Given the description of an element on the screen output the (x, y) to click on. 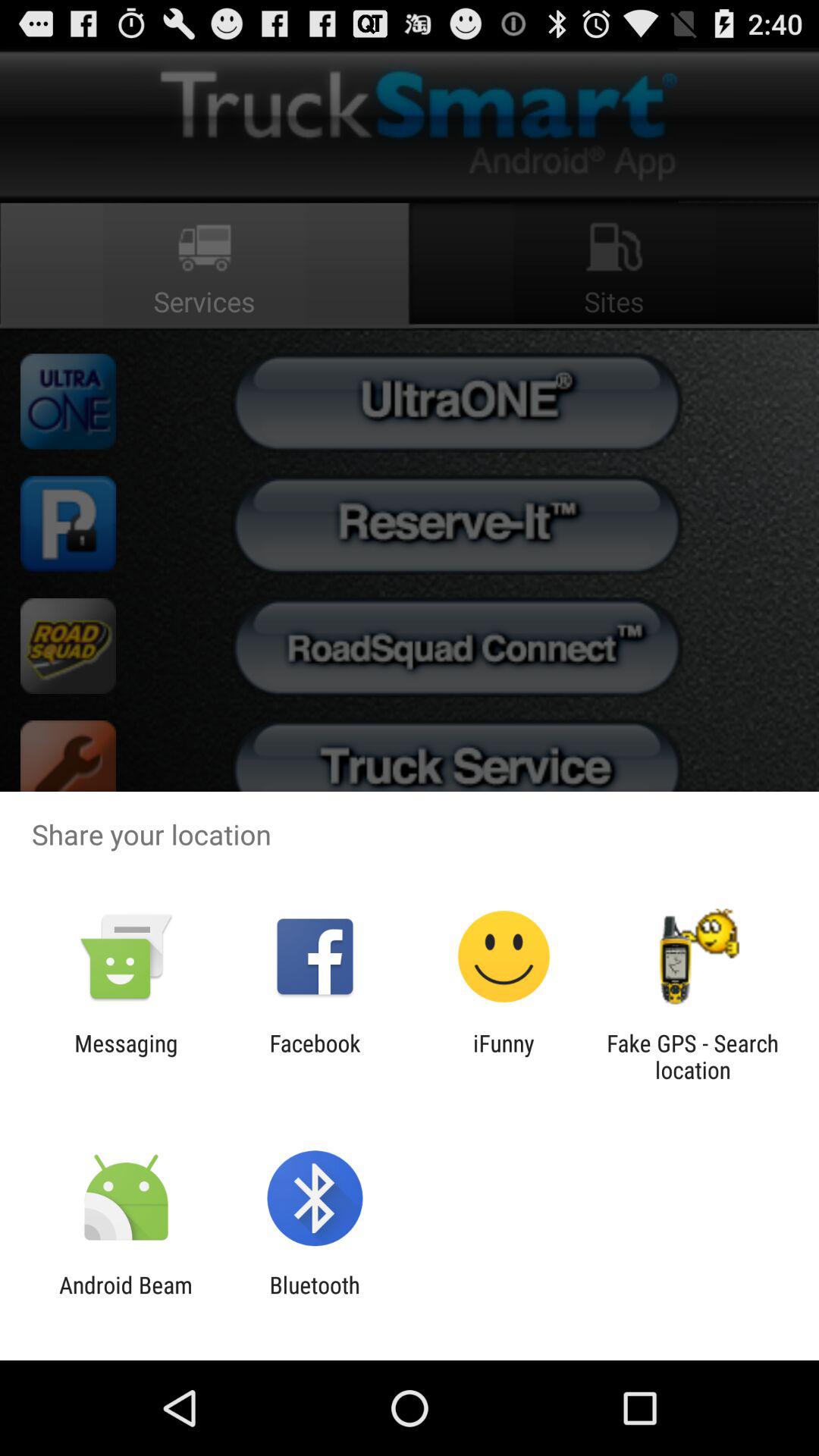
launch android beam item (125, 1298)
